Given the description of an element on the screen output the (x, y) to click on. 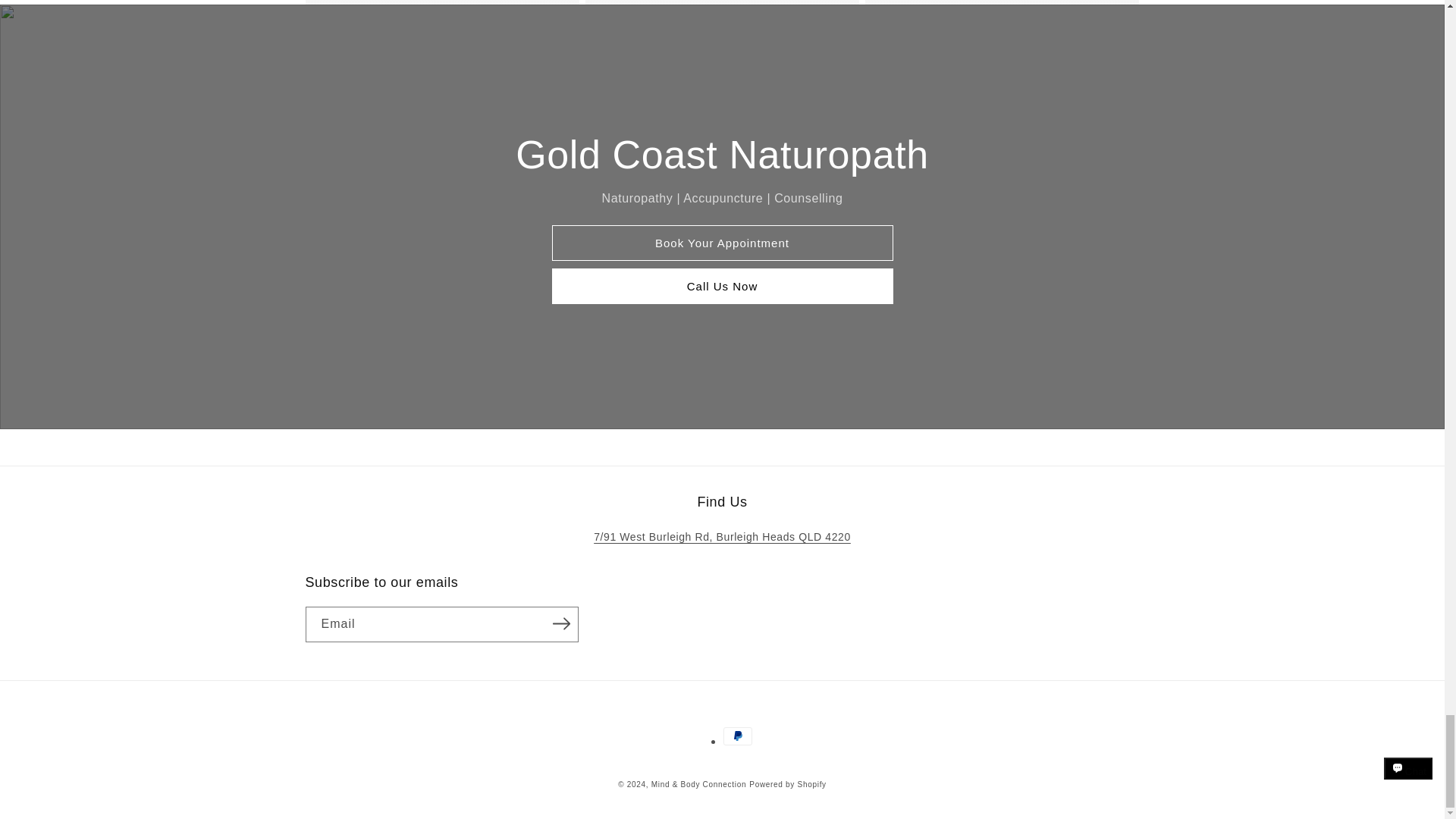
Book Your Appointment (722, 243)
Call Us Now (722, 285)
PayPal (737, 736)
